Given the description of an element on the screen output the (x, y) to click on. 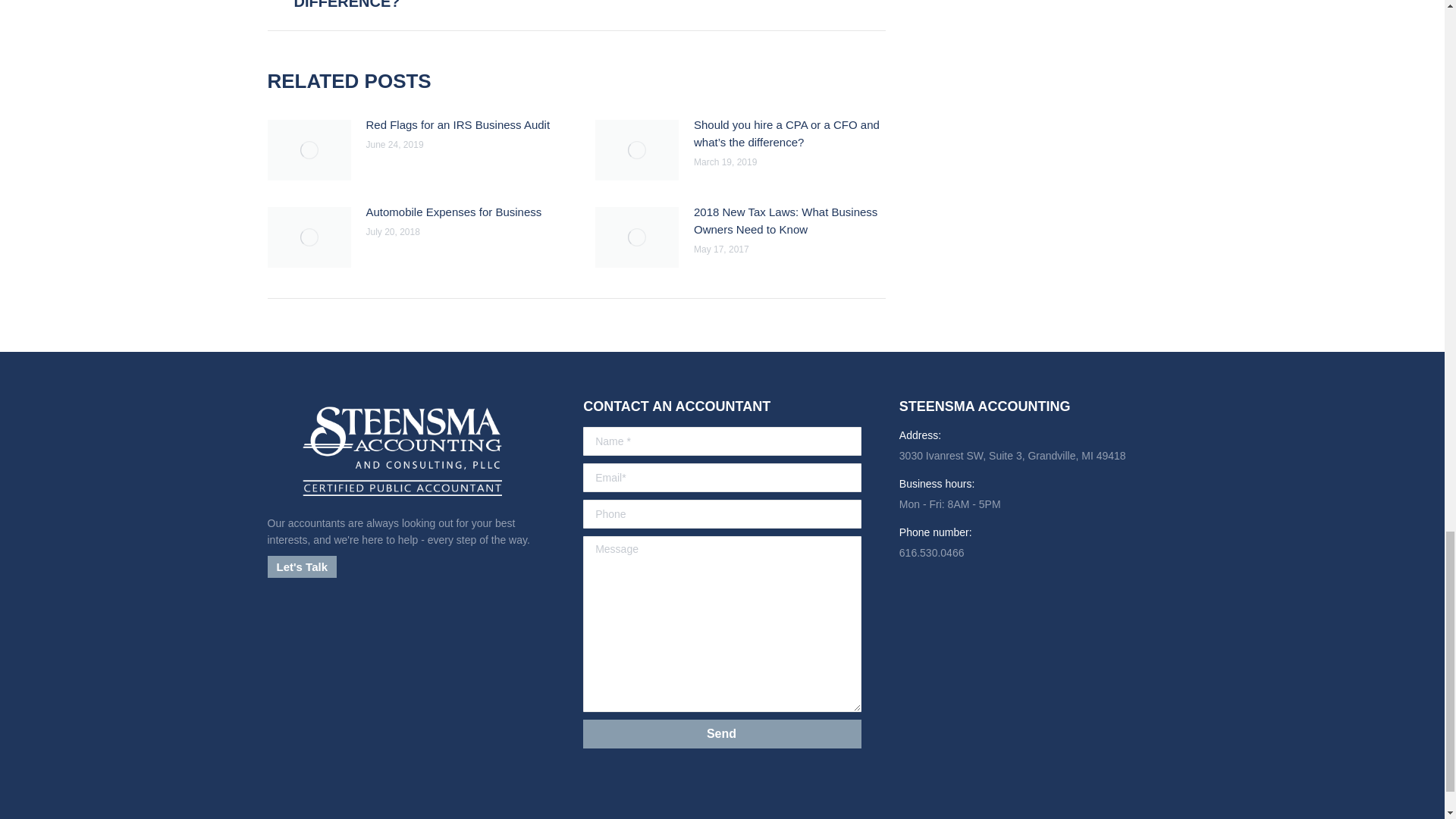
Send (741, 5)
